Given the description of an element on the screen output the (x, y) to click on. 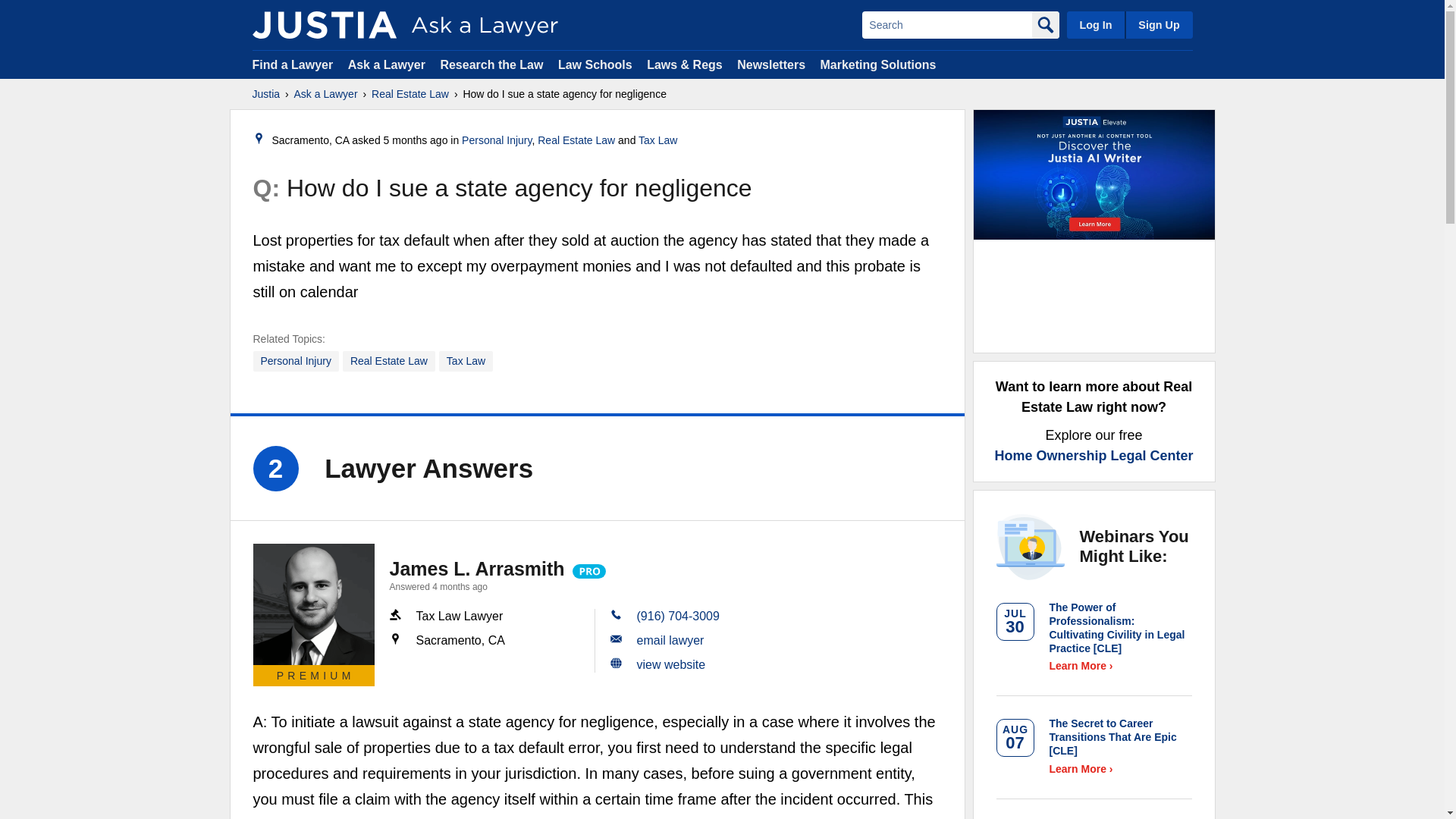
Search (945, 24)
Sign Up (1158, 24)
Law Schools (594, 64)
James L. Arrasmith (477, 568)
Marketing Solutions (877, 64)
Ask a Lawyer (326, 93)
James L. Arrasmith (313, 604)
Newsletters (770, 64)
Tax Law (658, 140)
Ask a Lawyer (388, 64)
2024-02-10T13:25:33-08:00 (416, 140)
Personal Injury (496, 140)
Justia (323, 24)
Find a Lawyer (292, 64)
Tax Law (466, 361)
